Given the description of an element on the screen output the (x, y) to click on. 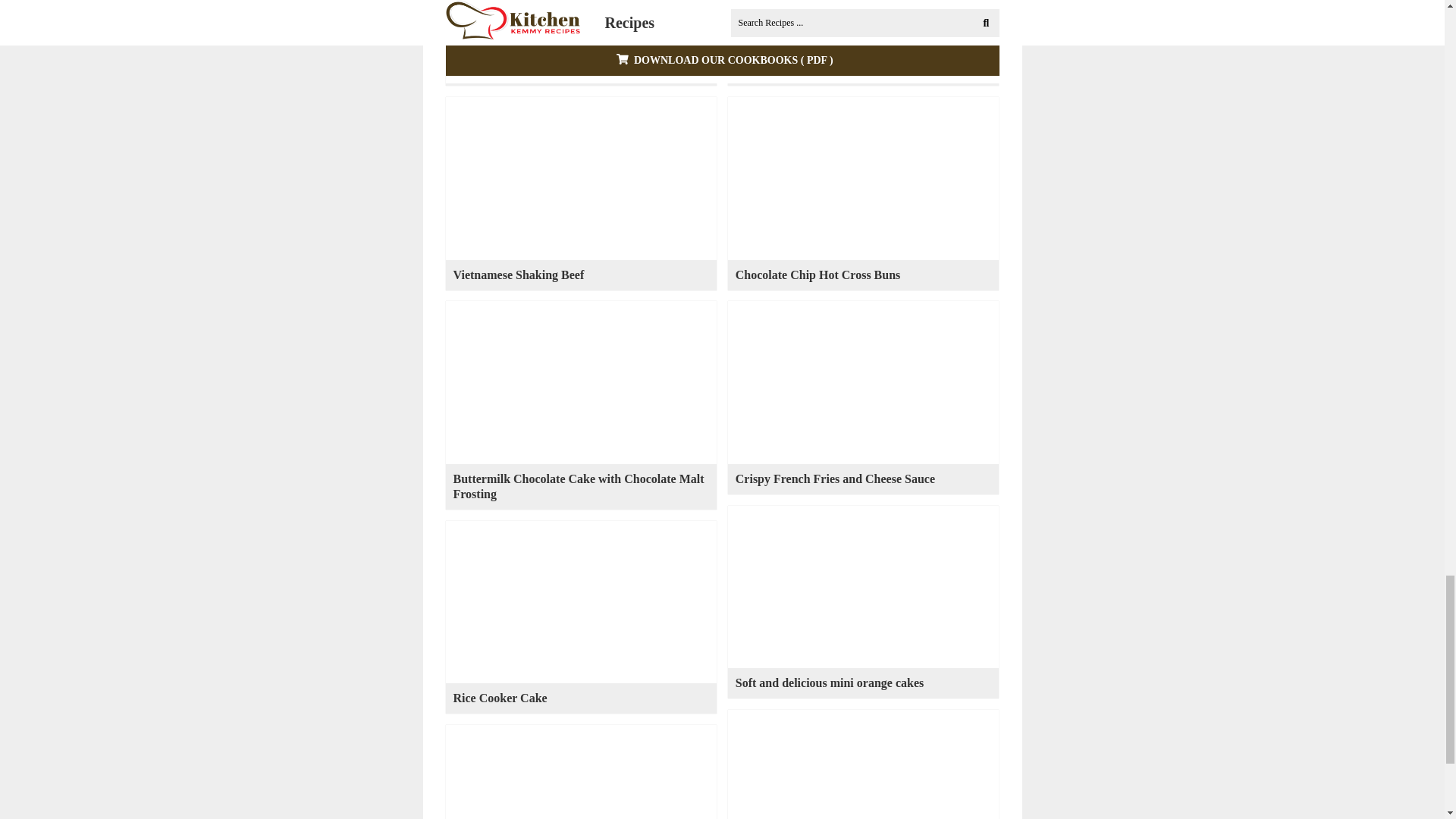
Chocolate Chip Hot Cross Buns 15 (863, 178)
Jam soft bun (486, 70)
Jam soft bun 12 (580, 27)
Super creamy lemon pound cake (820, 70)
Crispy French Fries and Cheese Sauce 17 (863, 382)
Soft and delicious mini orange cakes 18 (863, 587)
Vietnamese Shaking Beef 14 (580, 178)
Super creamy lemon pound cake 13 (863, 27)
Buttermilk Chocolate Cake with Chocolate Malt Frosting 16 (580, 382)
